Given the description of an element on the screen output the (x, y) to click on. 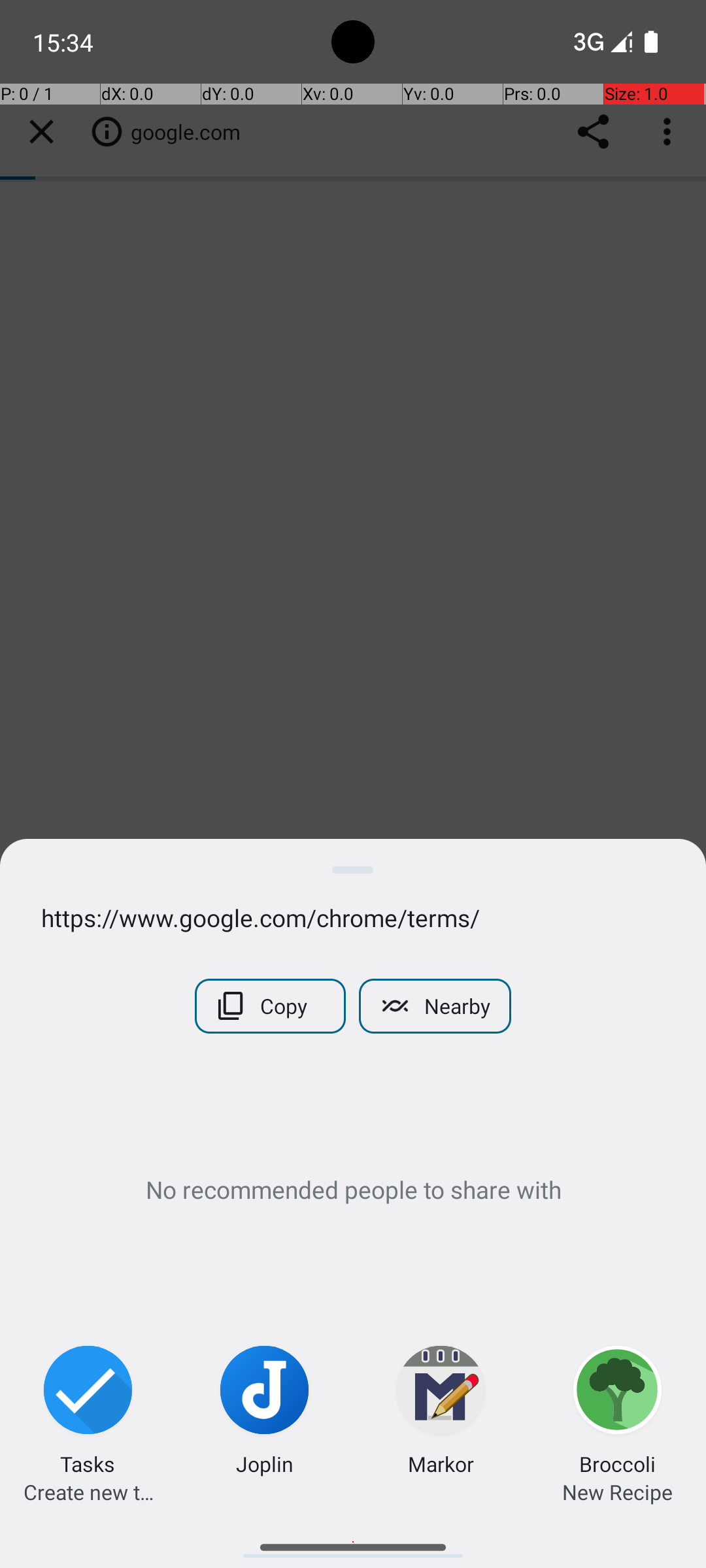
Apps list Element type: android.widget.ImageView (353, 1541)
https://www.google.com/chrome/terms/ Element type: android.widget.TextView (352, 917)
Copy Element type: android.widget.Button (269, 1005)
Nearby Element type: android.widget.Button (434, 1005)
No recommended people to share with Element type: android.widget.TextView (353, 1189)
Tasks Element type: android.widget.TextView (87, 1463)
Create new task Element type: android.widget.TextView (87, 1491)
Joplin Element type: android.widget.TextView (264, 1463)
Markor Element type: android.widget.TextView (440, 1463)
Broccoli Element type: android.widget.TextView (617, 1463)
New Recipe Element type: android.widget.TextView (617, 1491)
